Given the description of an element on the screen output the (x, y) to click on. 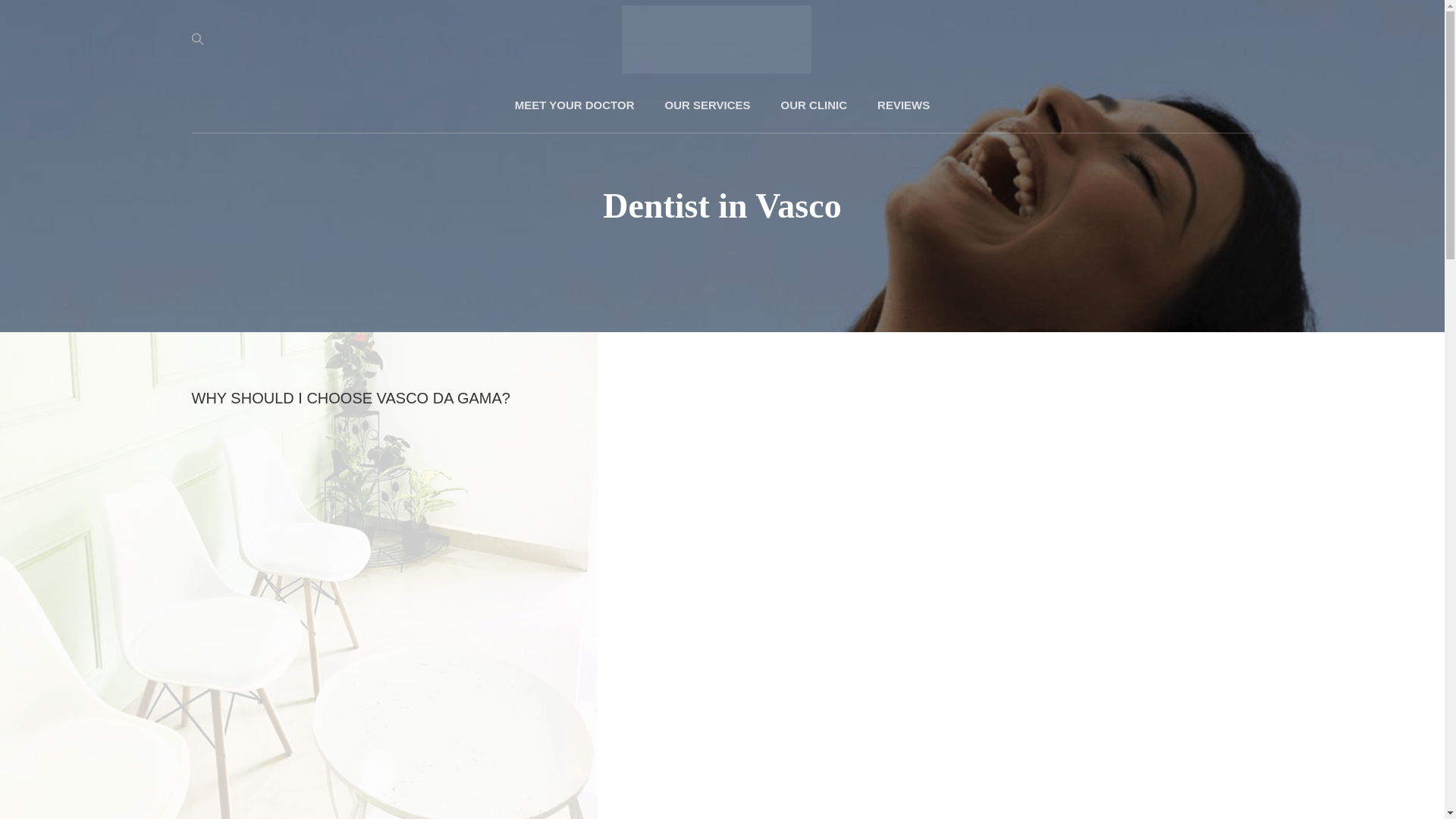
OUR CLINIC (814, 104)
Ace Dentistry Services (707, 104)
A LIFETIME OF SMILES (886, 71)
OUR SERVICES (707, 104)
MEET YOUR DOCTOR (574, 104)
REVIEWS (902, 104)
5 Star Reviews (902, 104)
Meet Your Doctor (574, 104)
Ace Dentistry Clinic (814, 104)
